Given the description of an element on the screen output the (x, y) to click on. 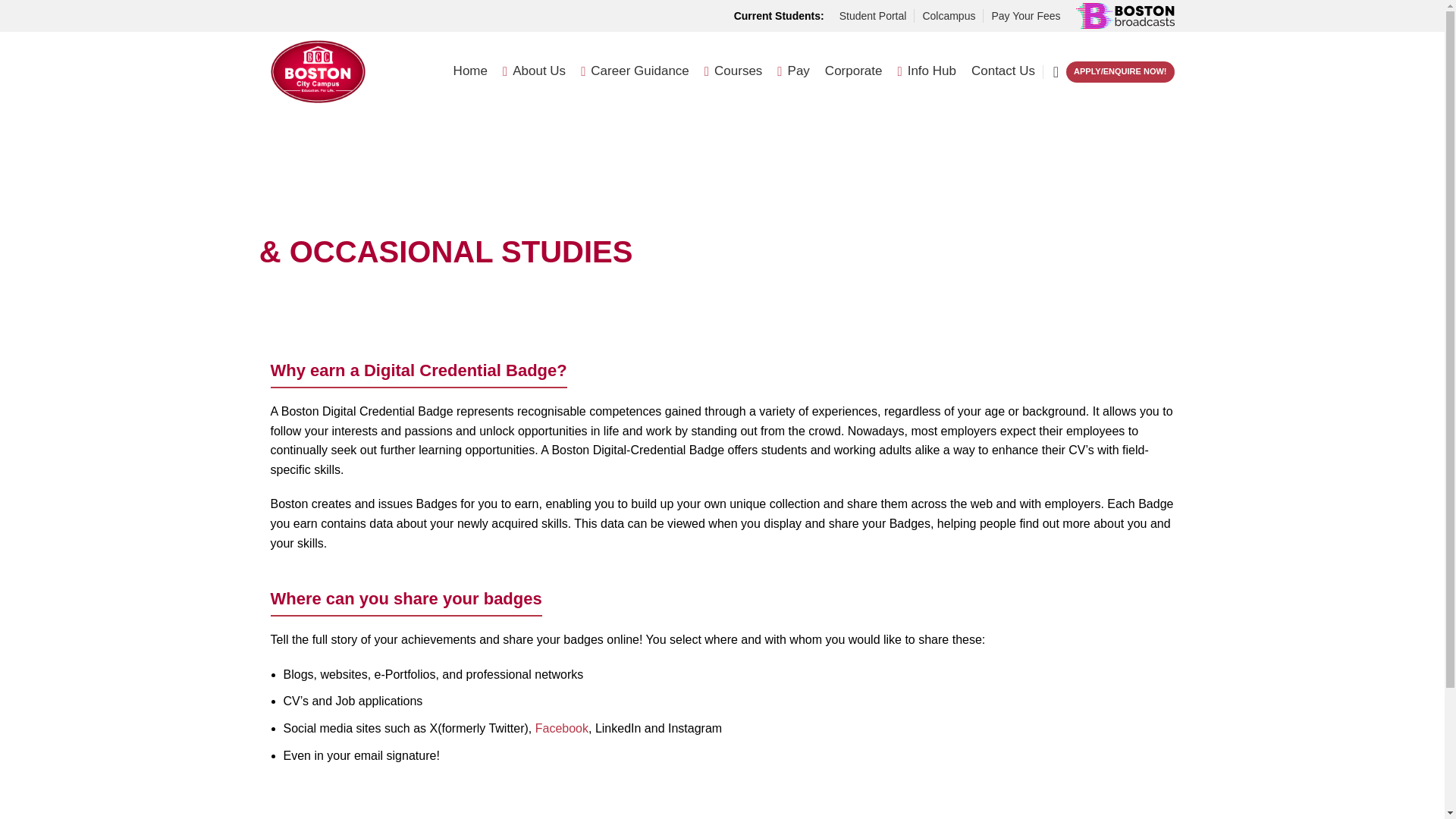
Career Guidance (634, 71)
Pay Your Fees (1025, 15)
About Us (534, 71)
Home (469, 71)
Courses (733, 71)
Student Portal (873, 15)
Colcampus (948, 15)
Boston Broadcasts (1124, 15)
